Given the description of an element on the screen output the (x, y) to click on. 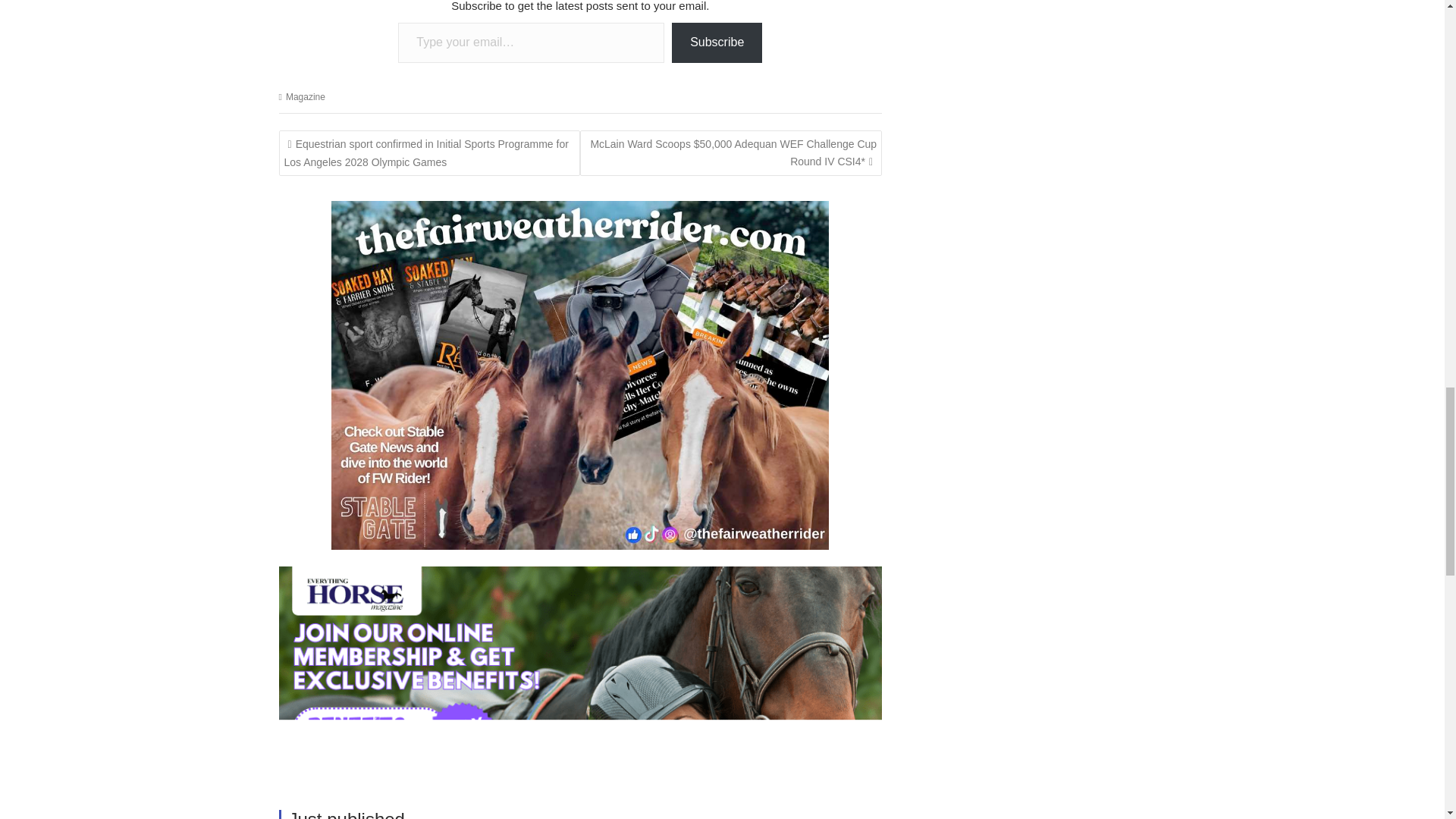
Please fill in this field. (530, 42)
